Given the description of an element on the screen output the (x, y) to click on. 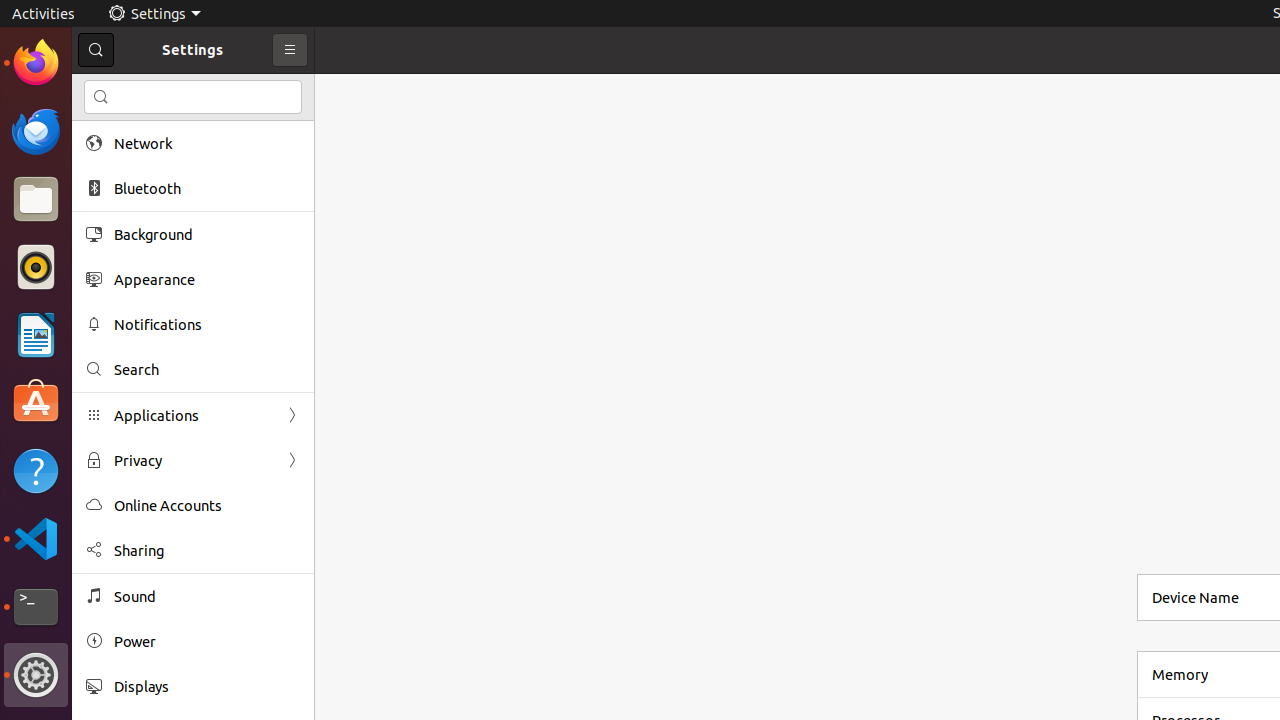
Sharing Element type: label (207, 550)
Firefox Web Browser Element type: push-button (36, 63)
Privacy Element type: label (193, 460)
